Given the description of an element on the screen output the (x, y) to click on. 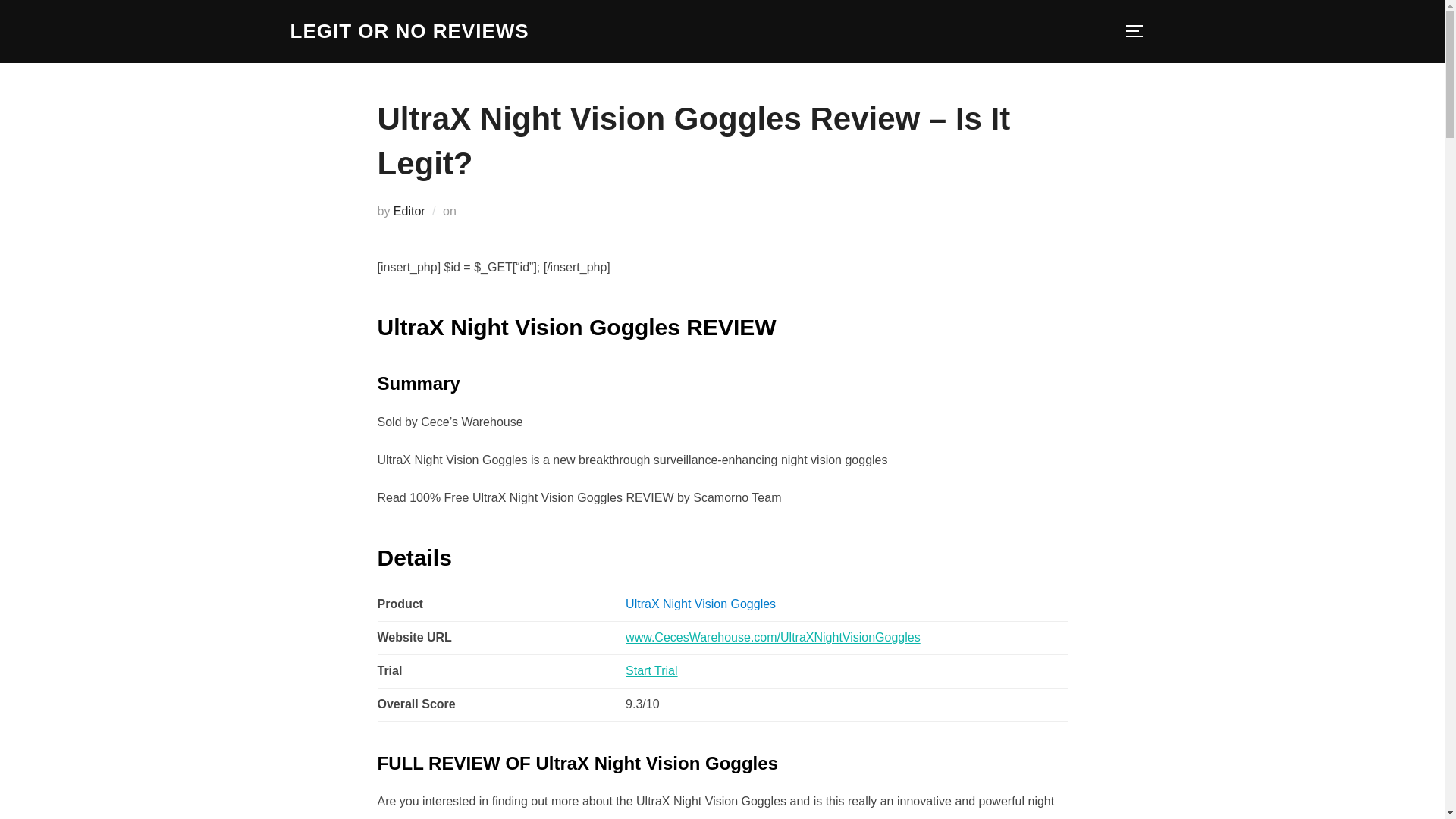
LEGIT OR NO REVIEWS (408, 31)
Editor (409, 210)
Start Trial (651, 670)
UltraX Night Vision Goggles (701, 603)
